Given the description of an element on the screen output the (x, y) to click on. 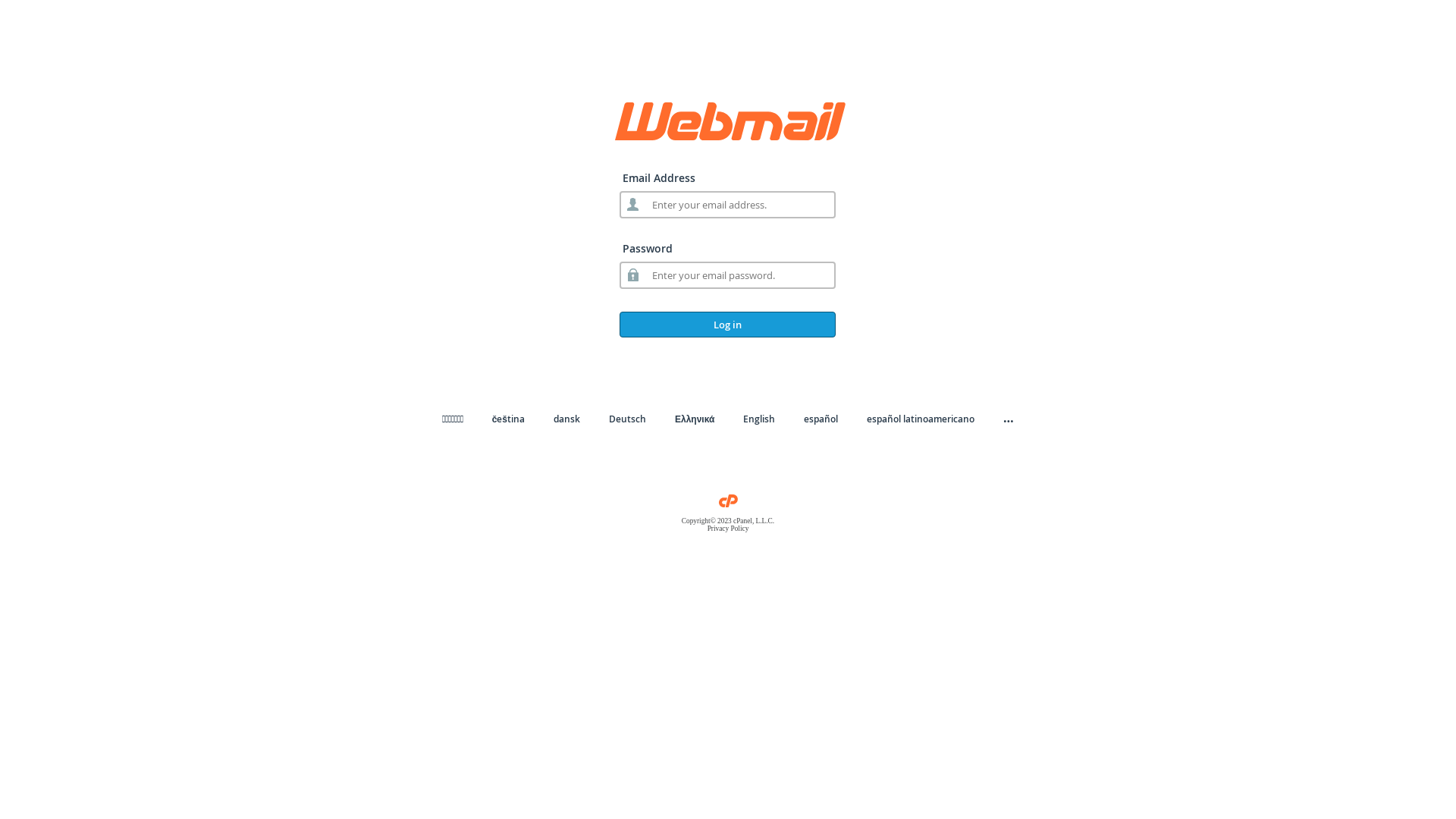
Privacy Policy Element type: text (728, 528)
dansk Element type: text (566, 418)
Deutsch Element type: text (627, 418)
English Element type: text (759, 418)
Log in Element type: text (727, 324)
